Given the description of an element on the screen output the (x, y) to click on. 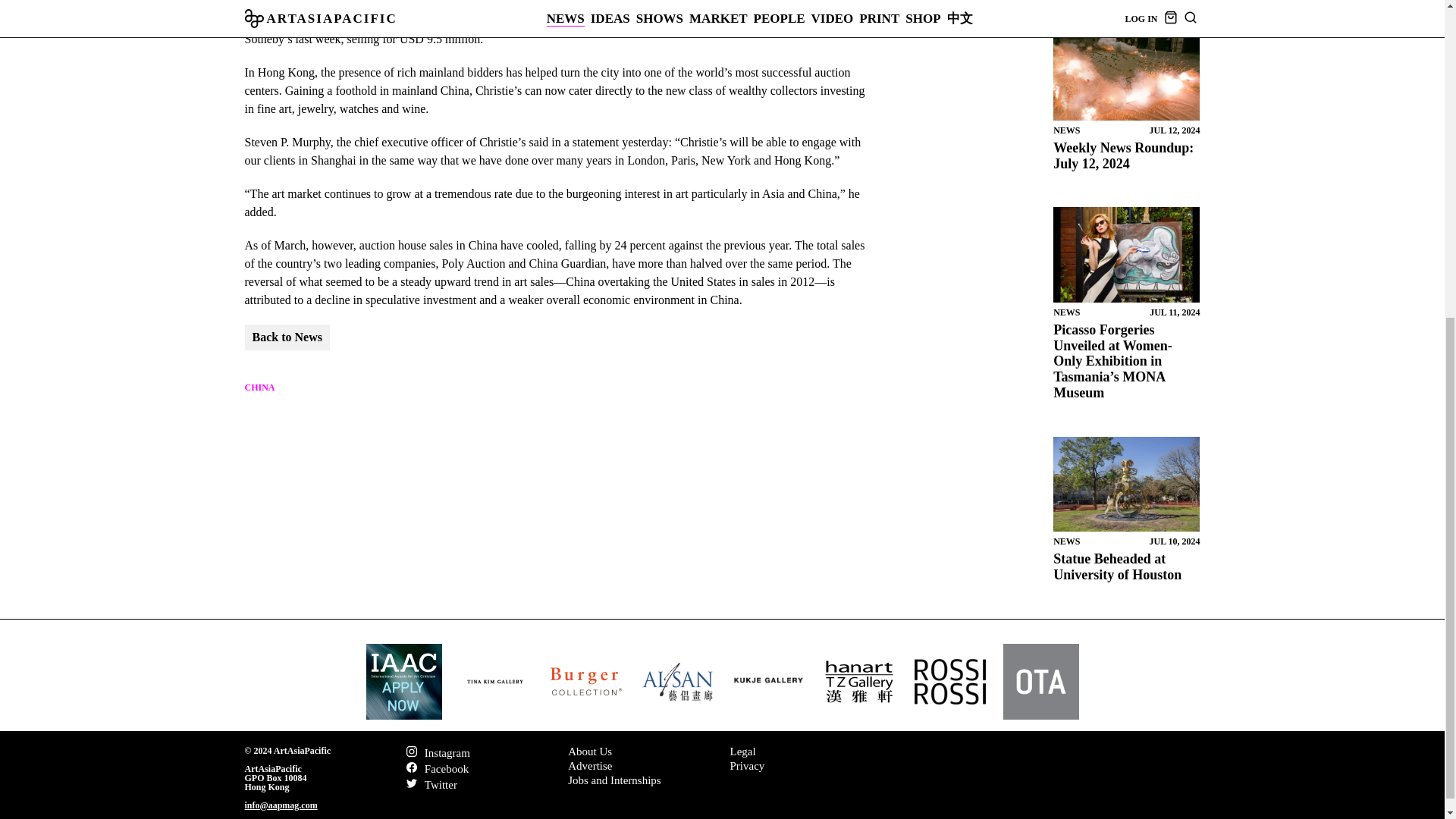
Back to News (286, 337)
CHINA (259, 387)
Statue Beheaded at University of Houston (1125, 483)
Weekly News Roundup: July 12, 2024 (1122, 155)
Weekly News Roundup: July 12, 2024 (1125, 72)
